Given the description of an element on the screen output the (x, y) to click on. 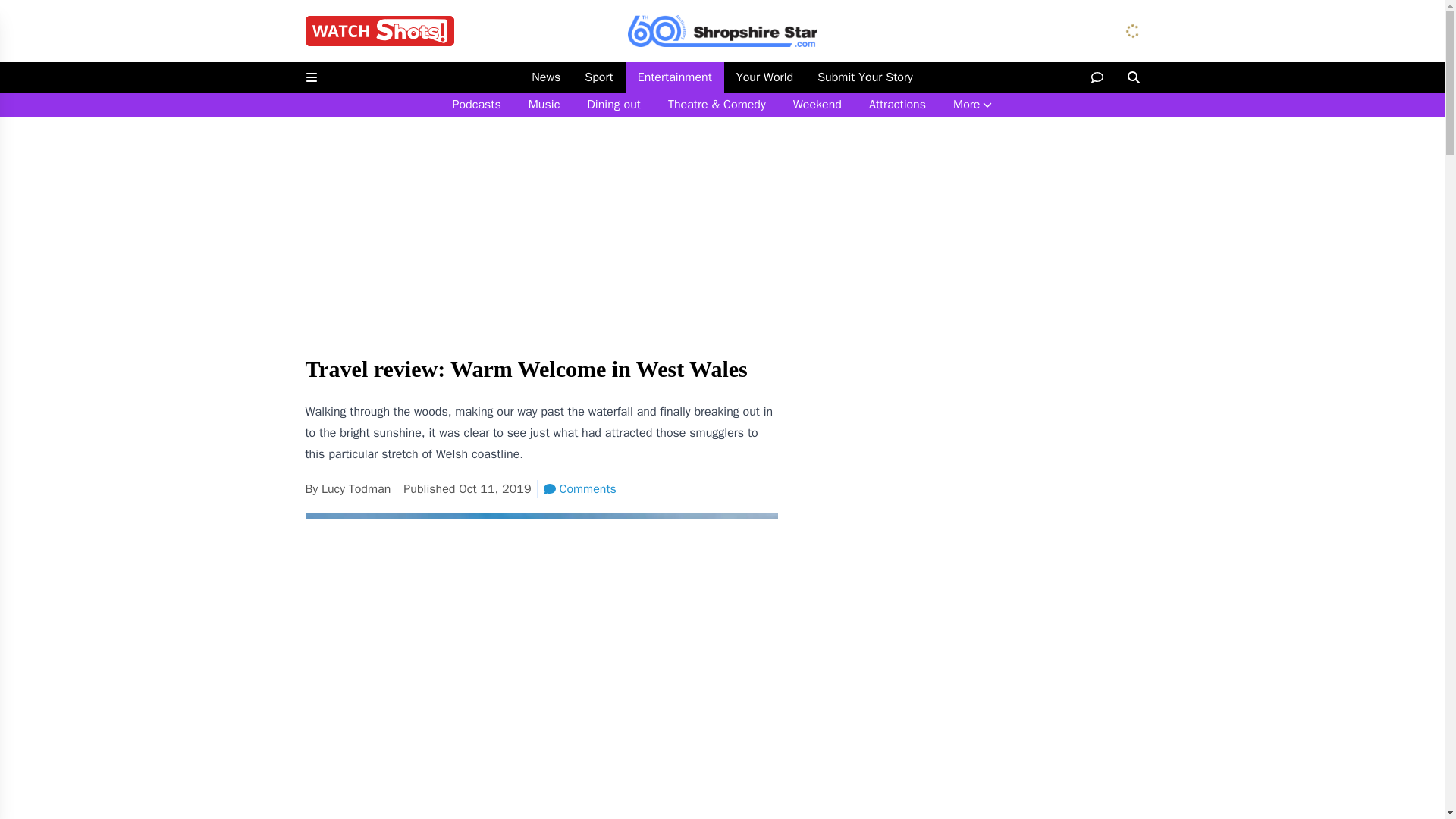
Attractions (897, 104)
Sport (598, 77)
Comments (579, 488)
Podcasts (477, 104)
Submit Your Story (864, 77)
Dining out (613, 104)
Your World (764, 77)
Lucy Todman (355, 488)
News (545, 77)
More (972, 104)
Weekend (816, 104)
Music (544, 104)
Entertainment (674, 77)
